Given the description of an element on the screen output the (x, y) to click on. 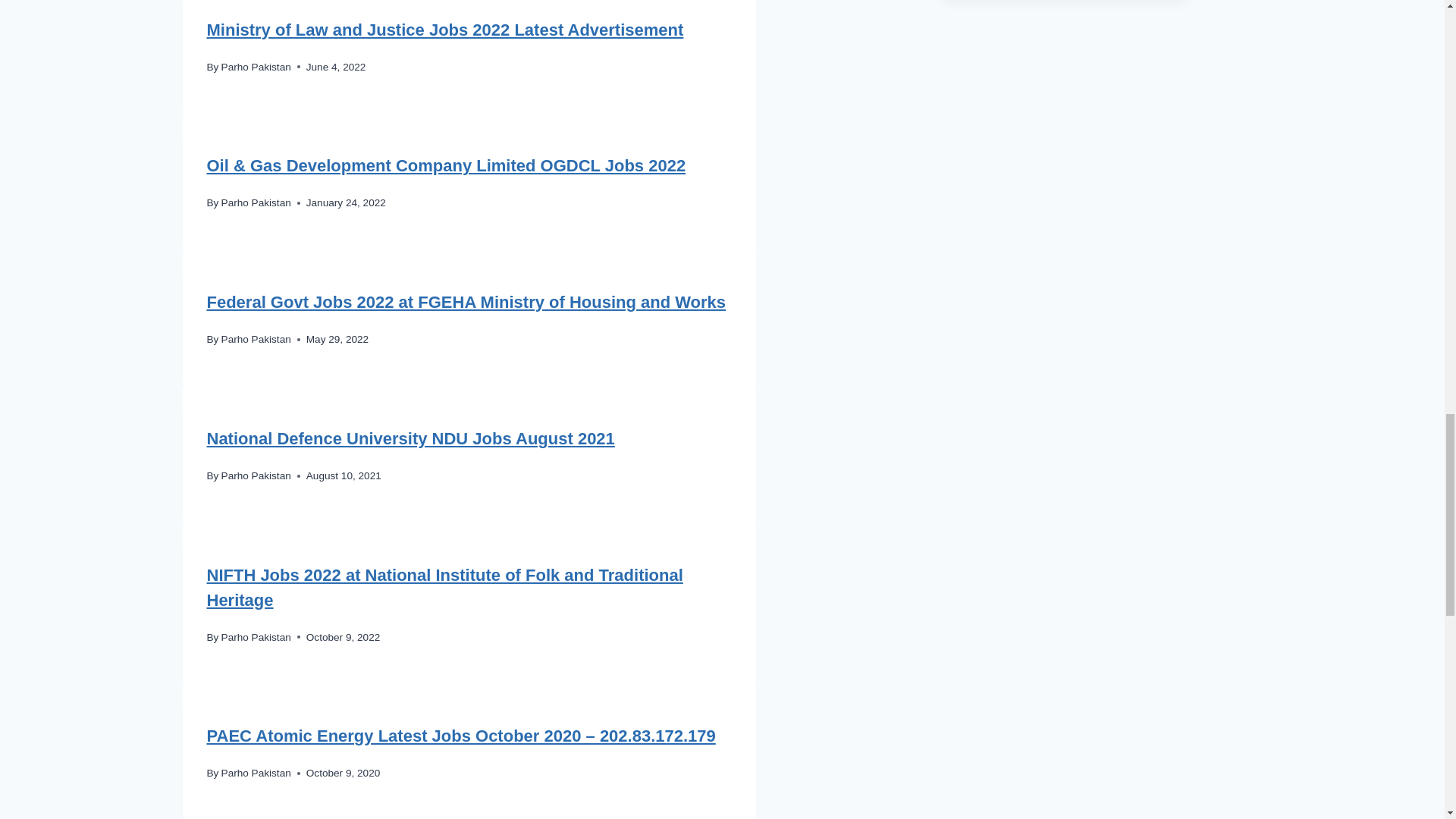
Ministry of Law and Justice Jobs 2022 Latest Advertisement (444, 29)
Parho Pakistan (256, 338)
Parho Pakistan (256, 475)
Parho Pakistan (256, 202)
National Defence University NDU Jobs August 2021 (410, 438)
Parho Pakistan (256, 66)
